Given the description of an element on the screen output the (x, y) to click on. 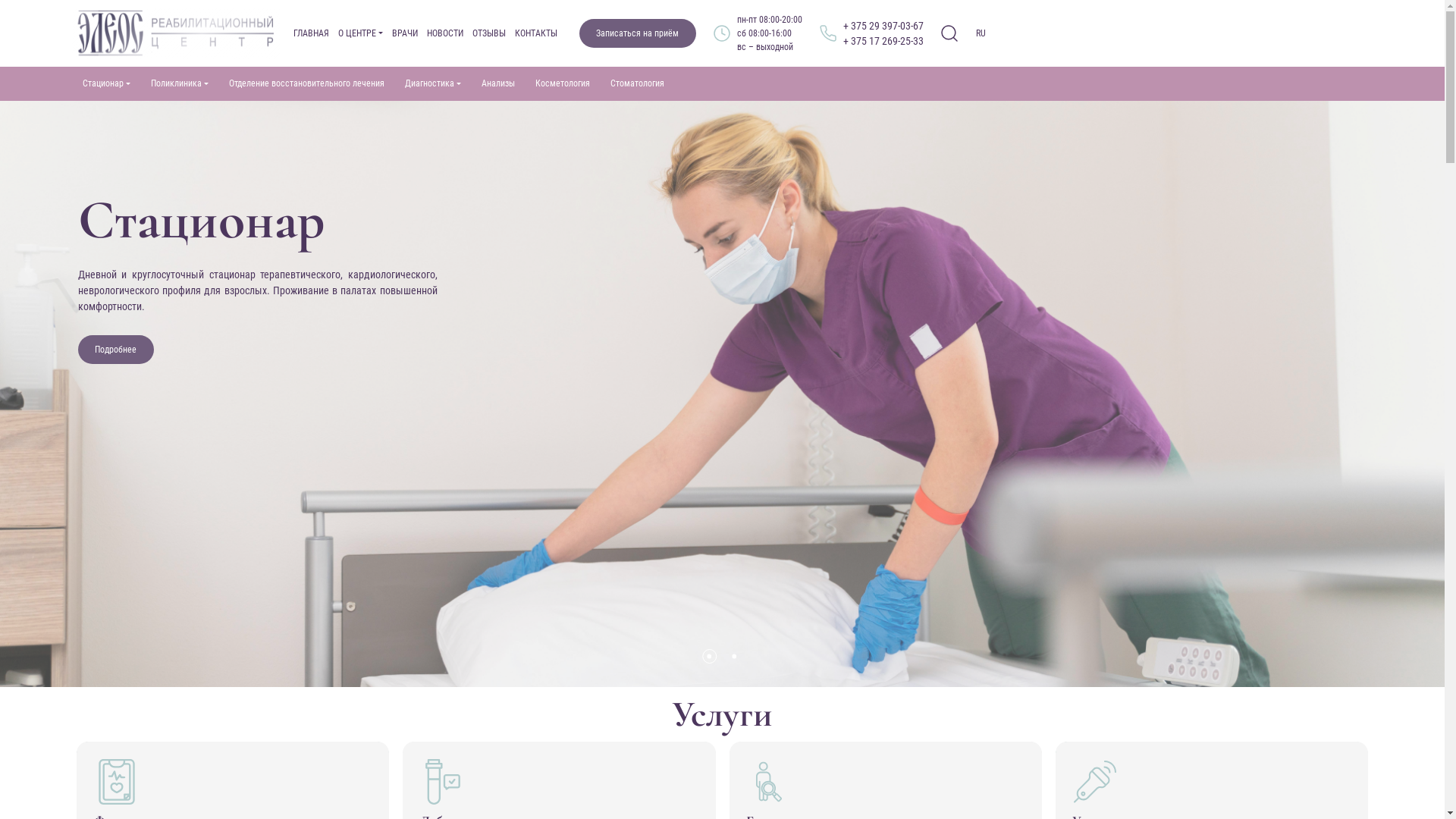
2 Element type: text (734, 656)
+ 375 17 269-25-33 Element type: text (883, 40)
+ 375 29 397-03-67 Element type: text (883, 25)
1 Element type: text (709, 656)
RU Element type: text (980, 33)
